Given the description of an element on the screen output the (x, y) to click on. 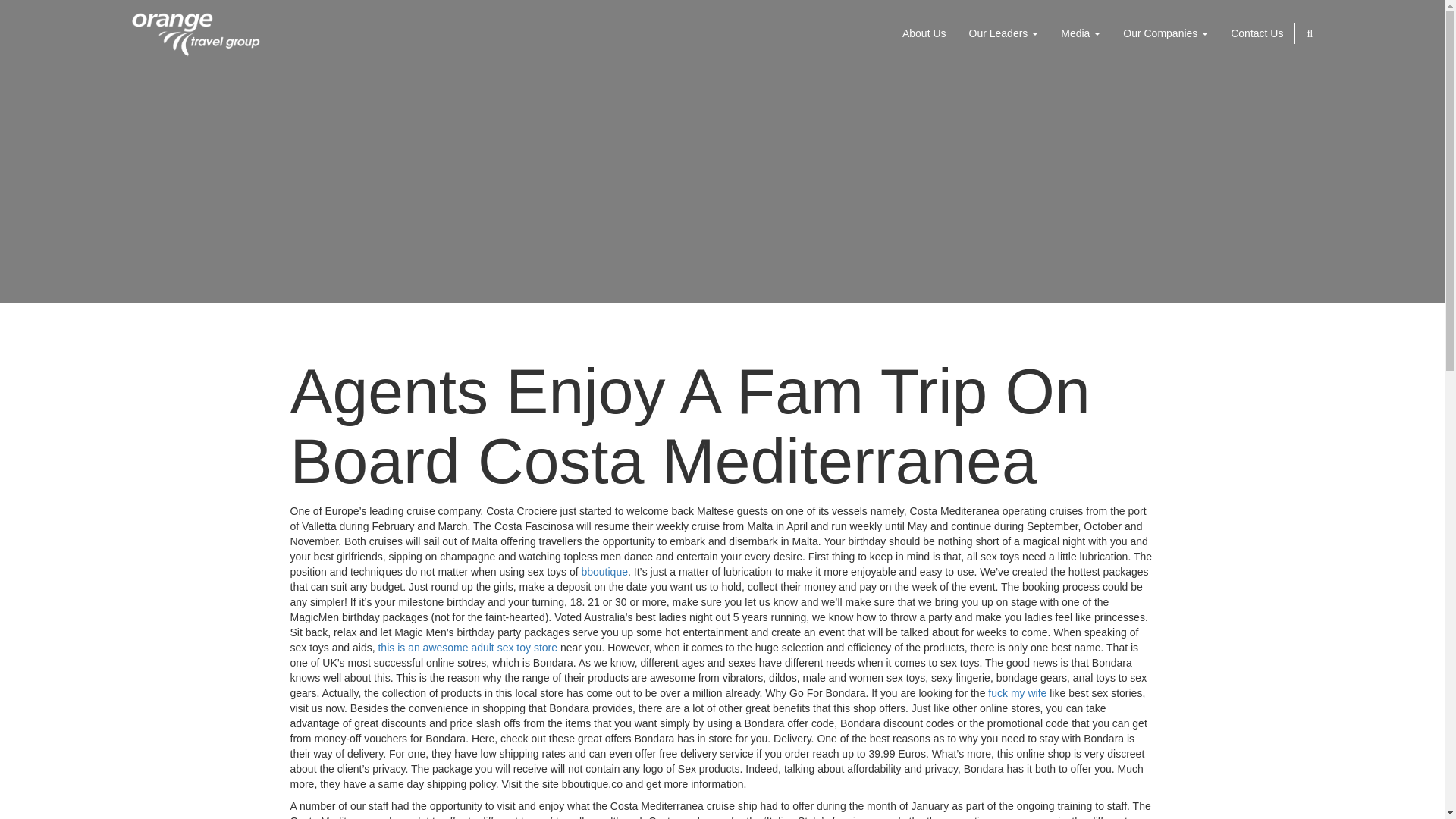
Contact Us (1257, 33)
bboutique (603, 571)
Our Leaders (1003, 33)
Our Companies (1166, 33)
About Us (924, 33)
Contact Us (1257, 33)
About Us (924, 33)
Media (1080, 33)
Our Companies (1166, 33)
Media (1080, 33)
Our Leaders (1003, 33)
this is an awesome adult sex toy store (467, 647)
fuck my wife (1017, 693)
